Given the description of an element on the screen output the (x, y) to click on. 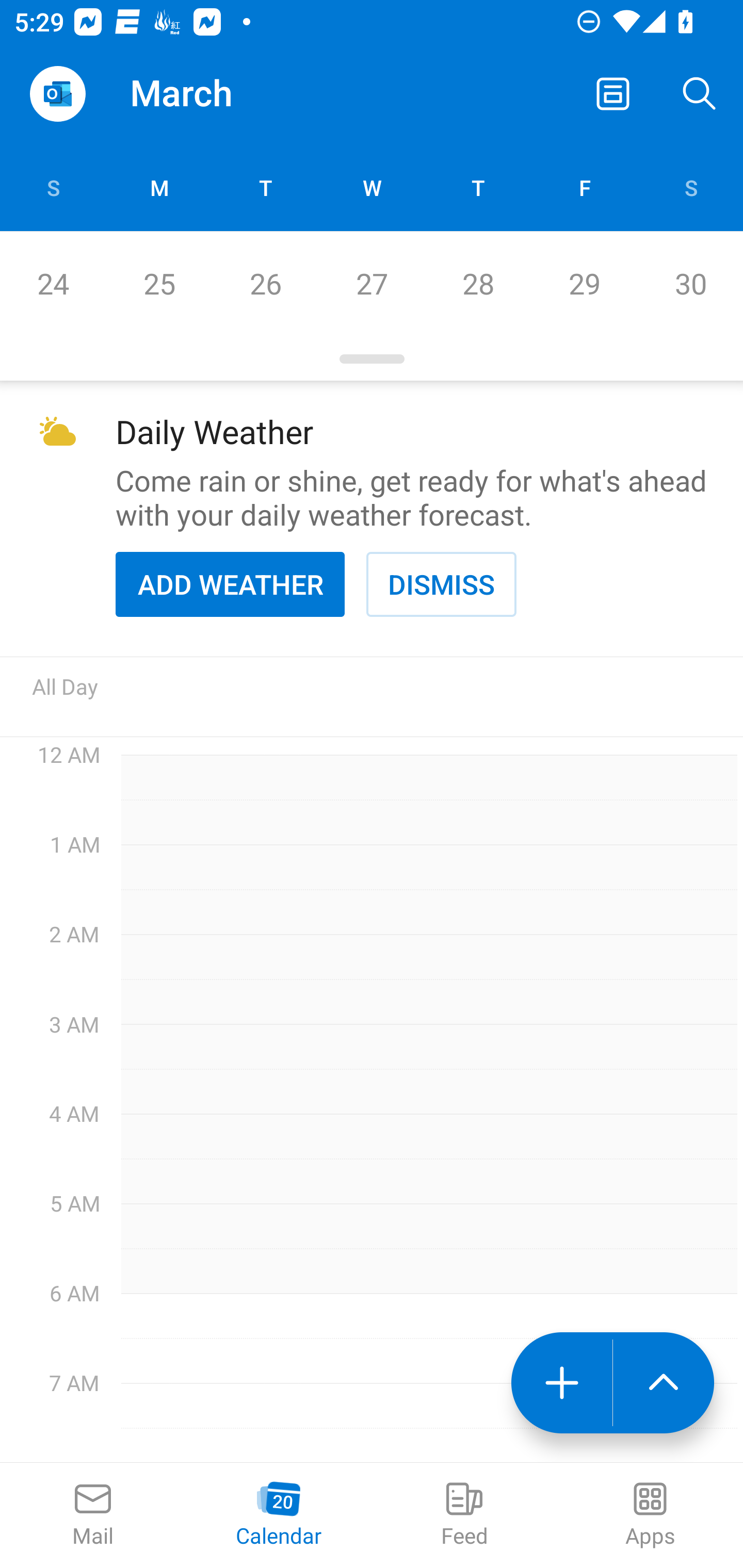
March March 2024, day picker (209, 93)
Switch away from Day view (612, 93)
Search, ,  (699, 93)
Open Navigation Drawer (57, 94)
24 Sunday, March 24 (53, 284)
25 Monday, March 25 (159, 284)
26 Tuesday, March 26 (265, 284)
27 Wednesday, March 27 (371, 284)
28 Thursday, March 28 (477, 284)
29 Friday, March 29 (584, 284)
30 Saturday, March 30 (690, 284)
Day picker (371, 359)
ADD WEATHER (230, 583)
DISMISS (440, 583)
New event (561, 1382)
launch the extended action menu (663, 1382)
Mail (92, 1515)
Feed (464, 1515)
Apps (650, 1515)
